Given the description of an element on the screen output the (x, y) to click on. 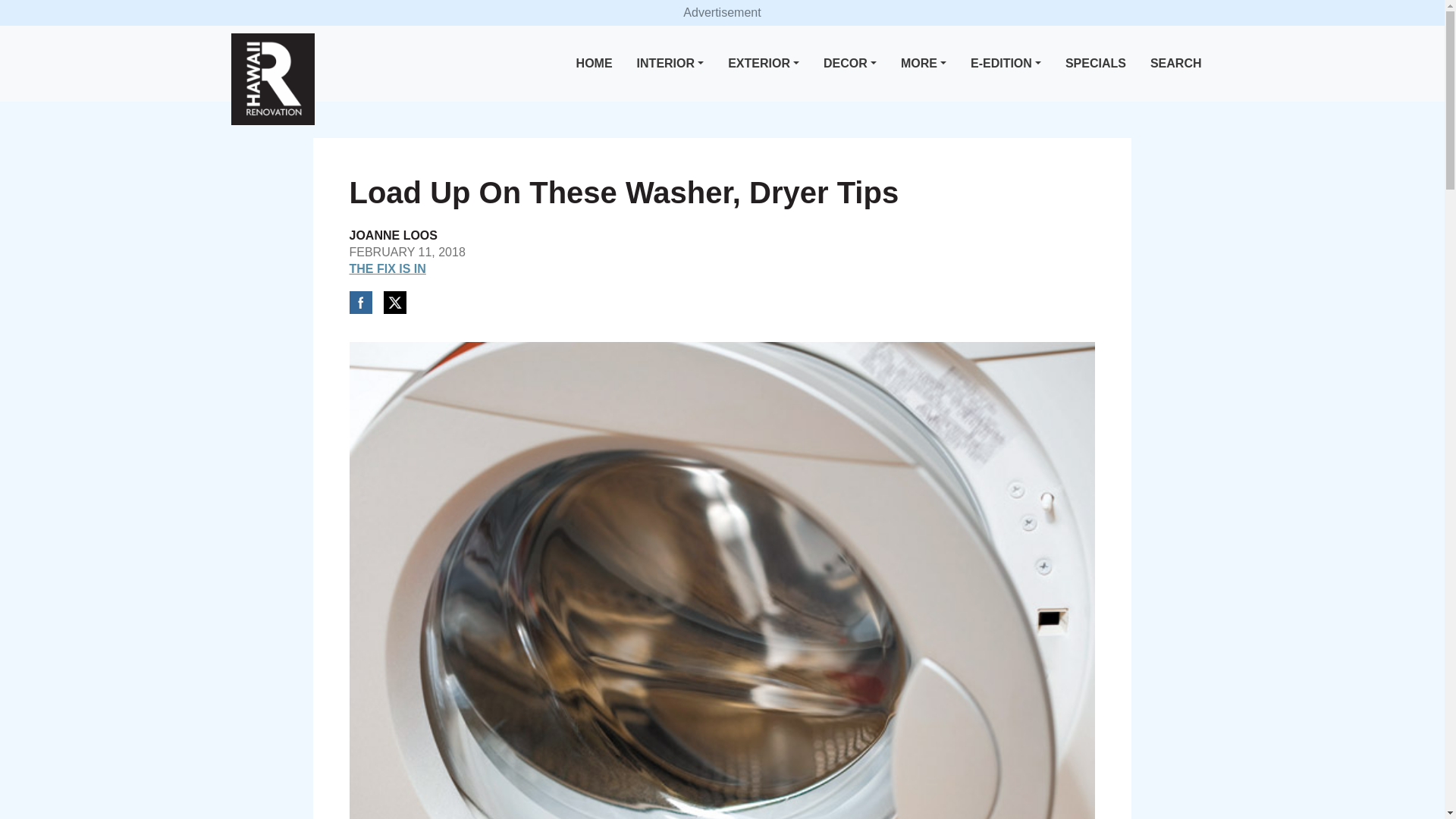
Facebook (360, 302)
THE FIX IS IN (387, 268)
SPECIALS (1095, 63)
MORE (923, 63)
HOME (594, 63)
DECOR (849, 63)
Hawaii Renovation (272, 79)
E-EDITION (1004, 63)
INTERIOR (670, 63)
Twitter (395, 302)
SEARCH (1176, 63)
EXTERIOR (763, 63)
